Given the description of an element on the screen output the (x, y) to click on. 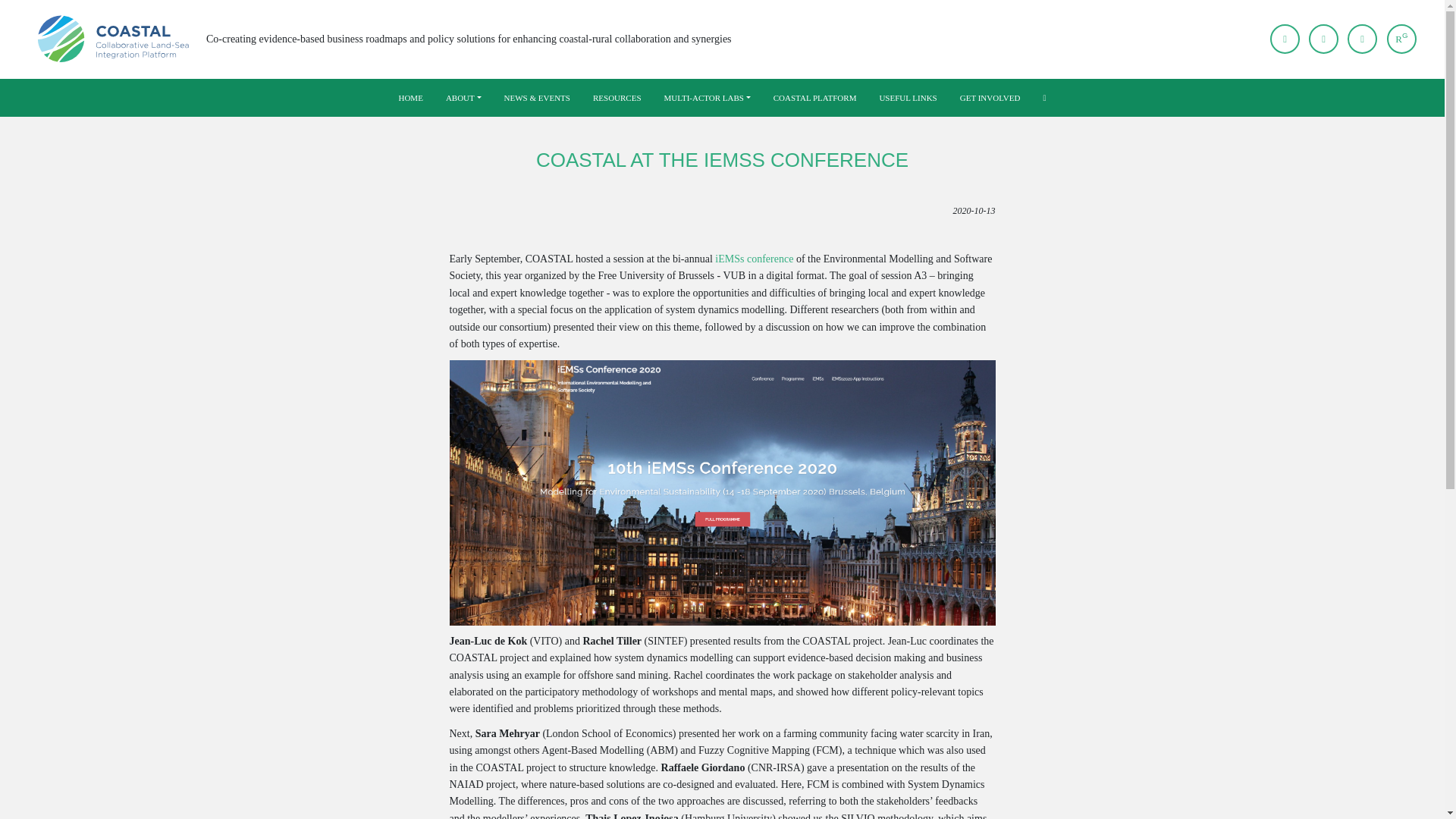
Follow us on Twitter (1323, 39)
Follow us on LinkedIn (1362, 39)
COASTAL home (114, 39)
ABOUT (463, 98)
COASTAL PLATFORM (814, 98)
COASTAL AT THE IEMSS CONFERENCE (721, 159)
MULTI-ACTOR LABS (706, 98)
GET INVOLVED (990, 98)
HOME (410, 98)
Follow us on Email (1284, 39)
iEMSs conference (753, 258)
RESOURCES (616, 98)
USEFUL LINKS (907, 98)
